Given the description of an element on the screen output the (x, y) to click on. 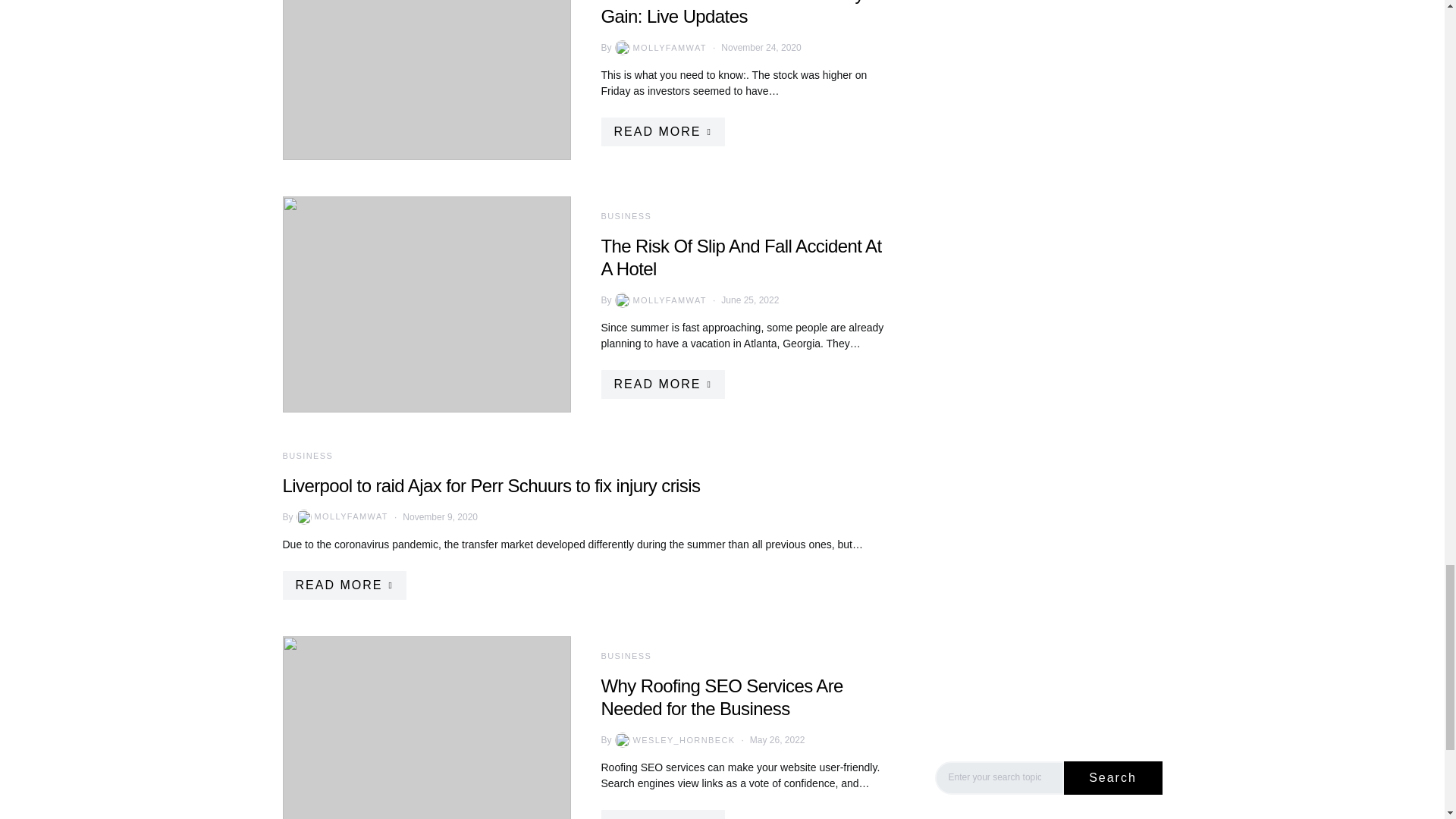
View all posts by mollyfamwat (658, 47)
View all posts by mollyfamwat (341, 516)
View all posts by mollyfamwat (658, 299)
